Given the description of an element on the screen output the (x, y) to click on. 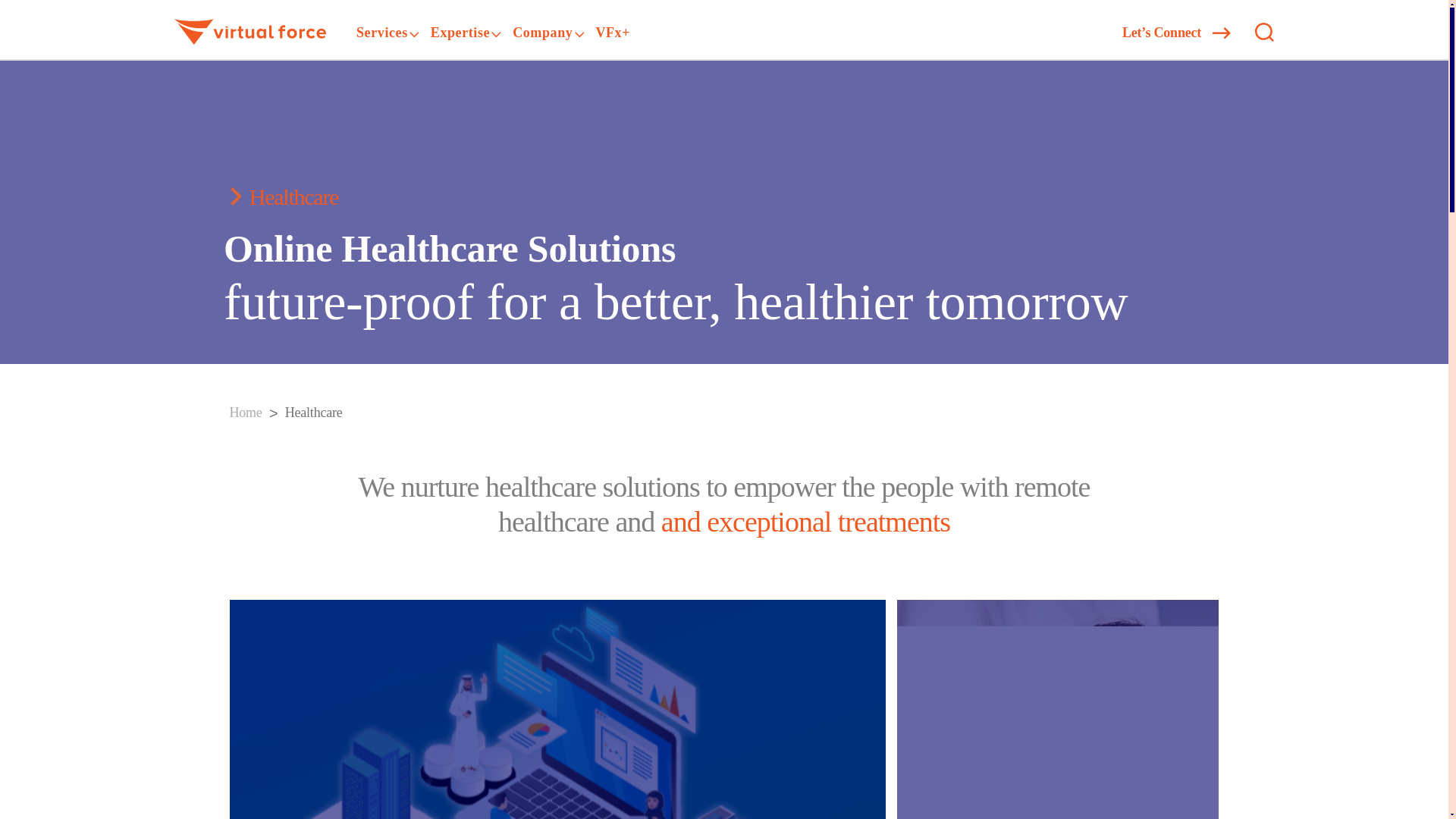
Company (541, 32)
Services (382, 32)
Expertise (459, 32)
